Given the description of an element on the screen output the (x, y) to click on. 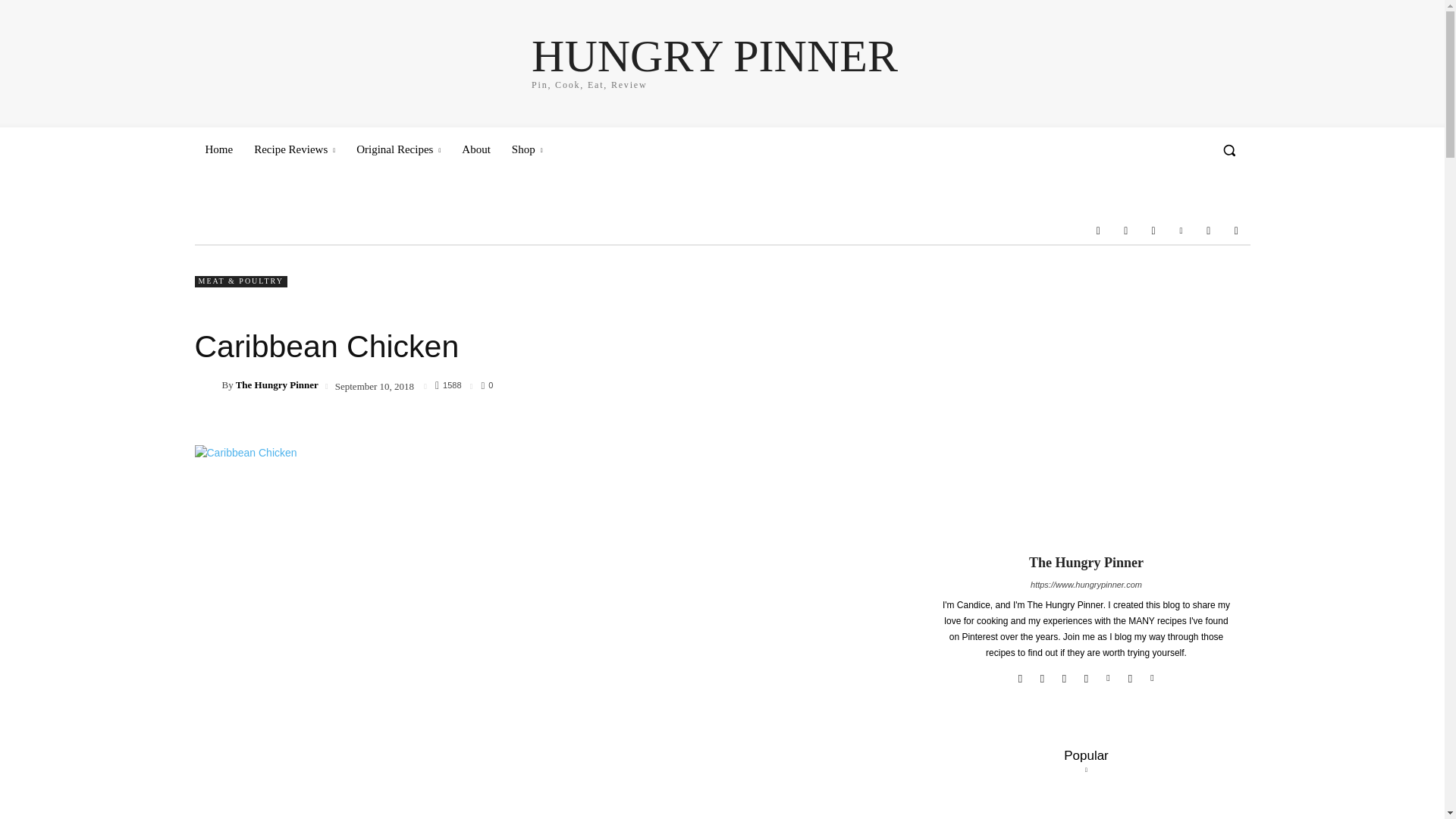
Hungry Pinner Recipe Reviews (713, 61)
Home (713, 61)
Recipe Reviews (218, 149)
